Given the description of an element on the screen output the (x, y) to click on. 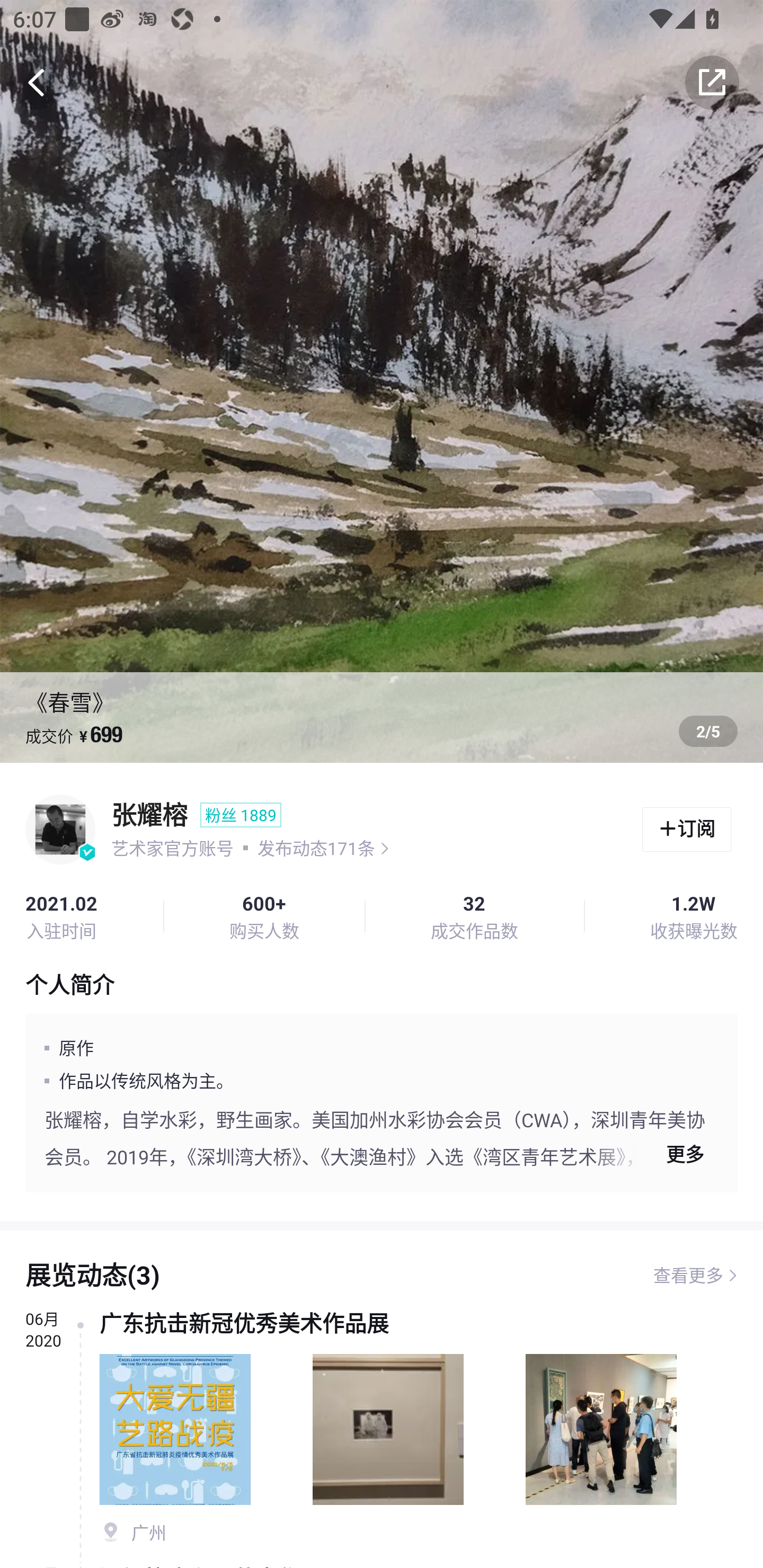
《春雪》 成交价 ¥ 699 (381, 381)
Navigate up (36, 82)
 (712, 81)
订阅 (686, 829)
发布动态171条  (323, 847)
更多 (656, 1153)
查看更多 (688, 1275)
